Given the description of an element on the screen output the (x, y) to click on. 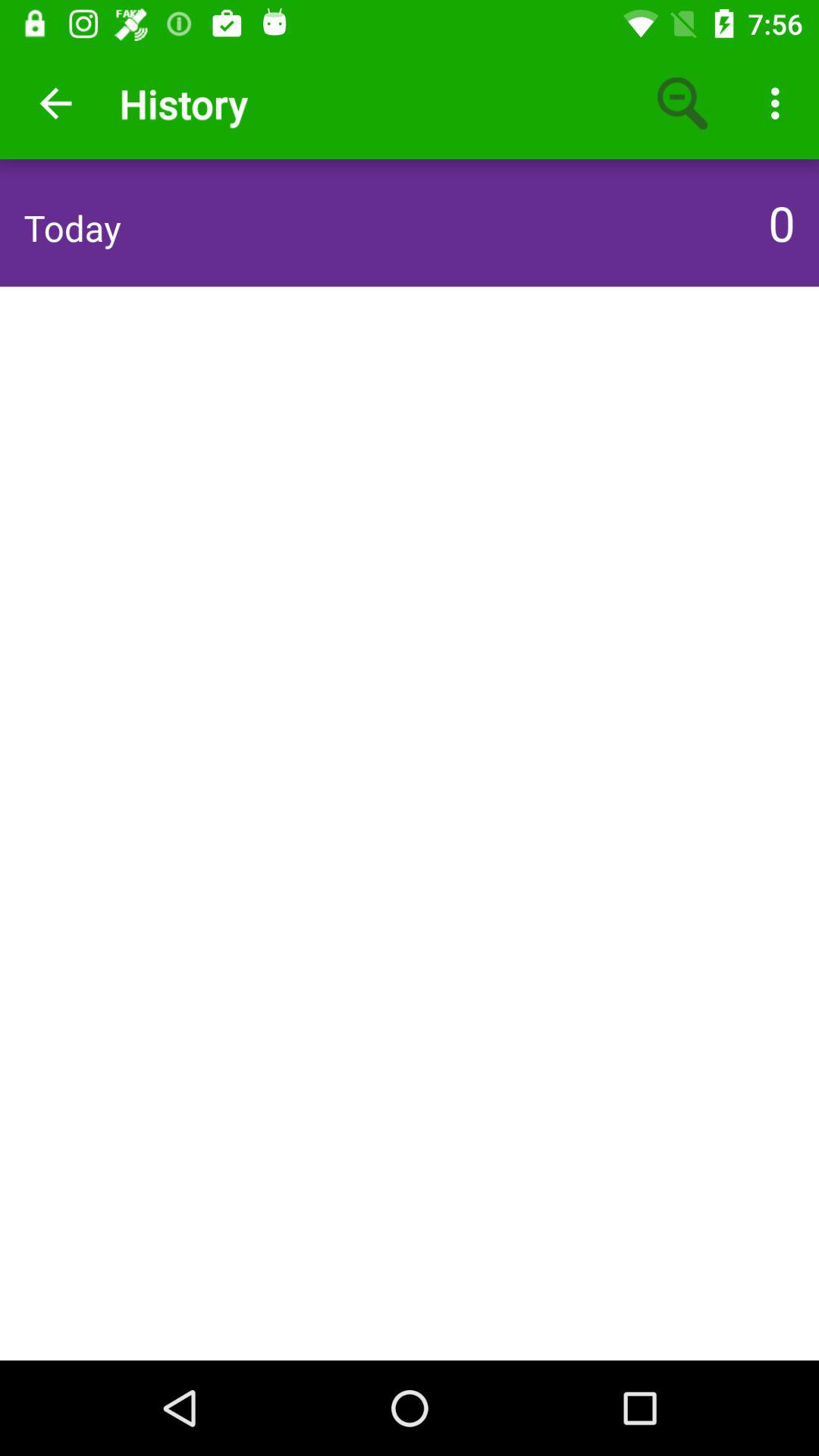
choose item to the right of today icon (777, 222)
